Given the description of an element on the screen output the (x, y) to click on. 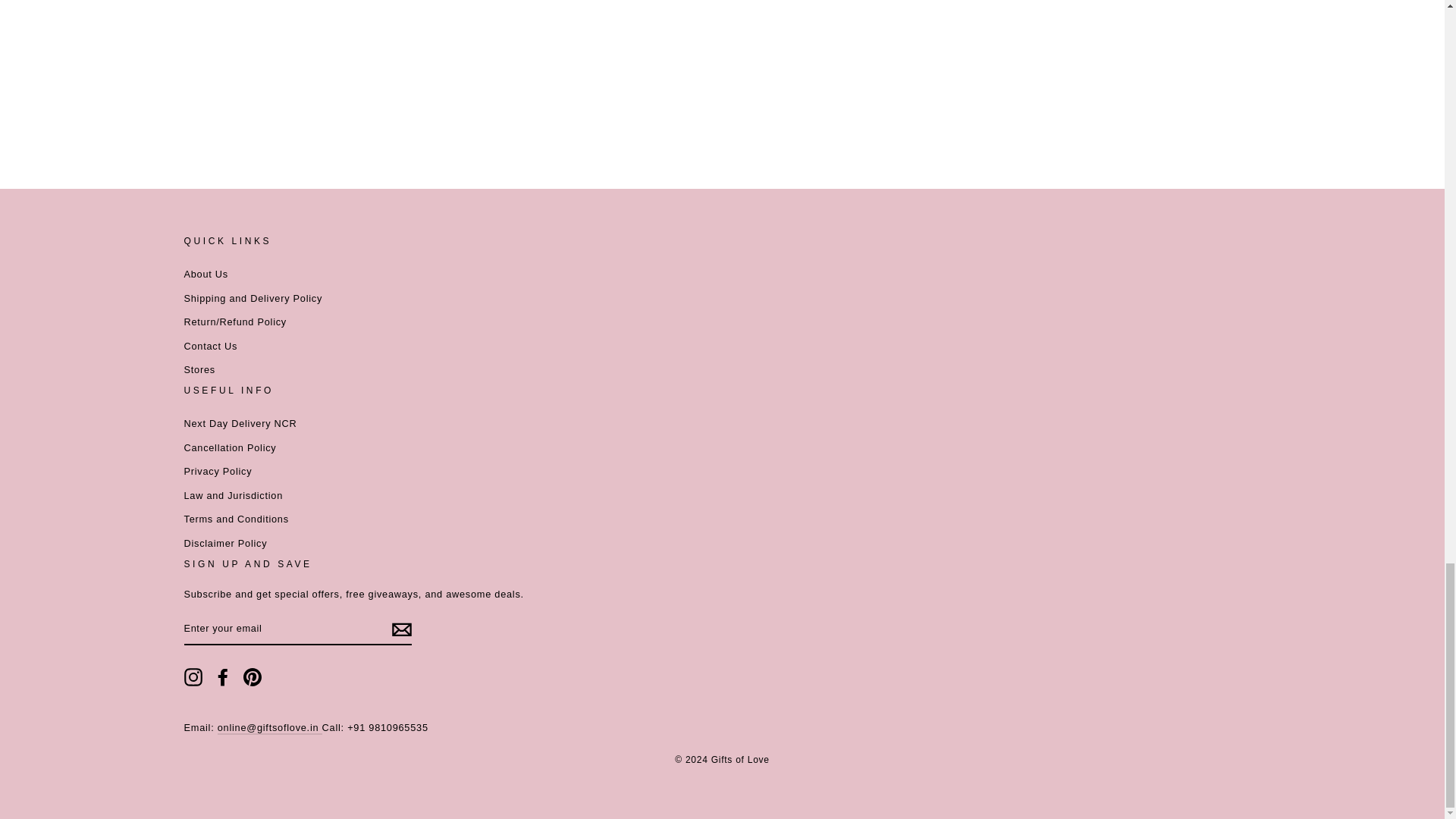
Gifts of Love on Pinterest (251, 677)
Gifts of Love on Facebook (222, 677)
Gifts of Love on Instagram (192, 677)
